Given the description of an element on the screen output the (x, y) to click on. 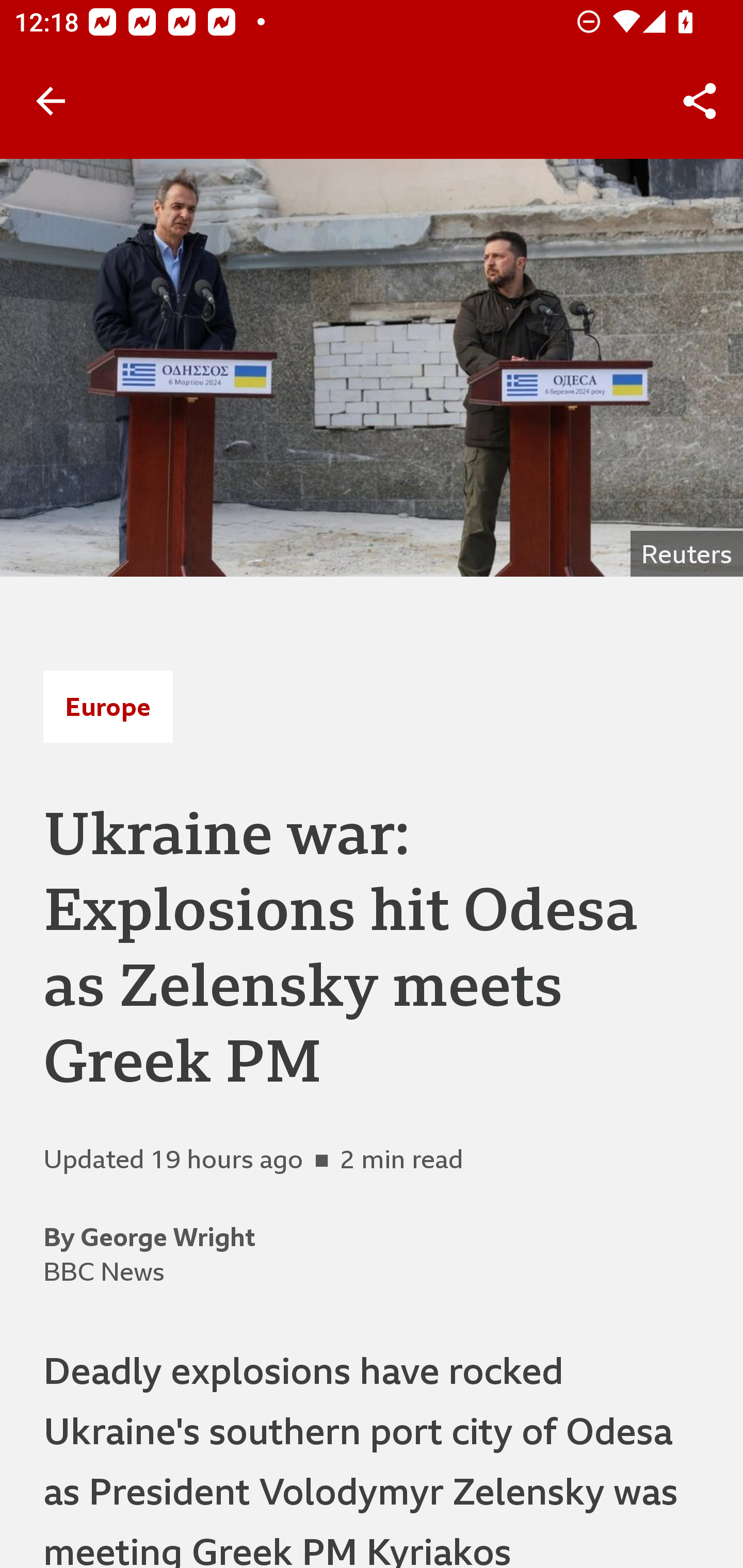
Back (50, 101)
Share (699, 101)
Europe (108, 706)
